Given the description of an element on the screen output the (x, y) to click on. 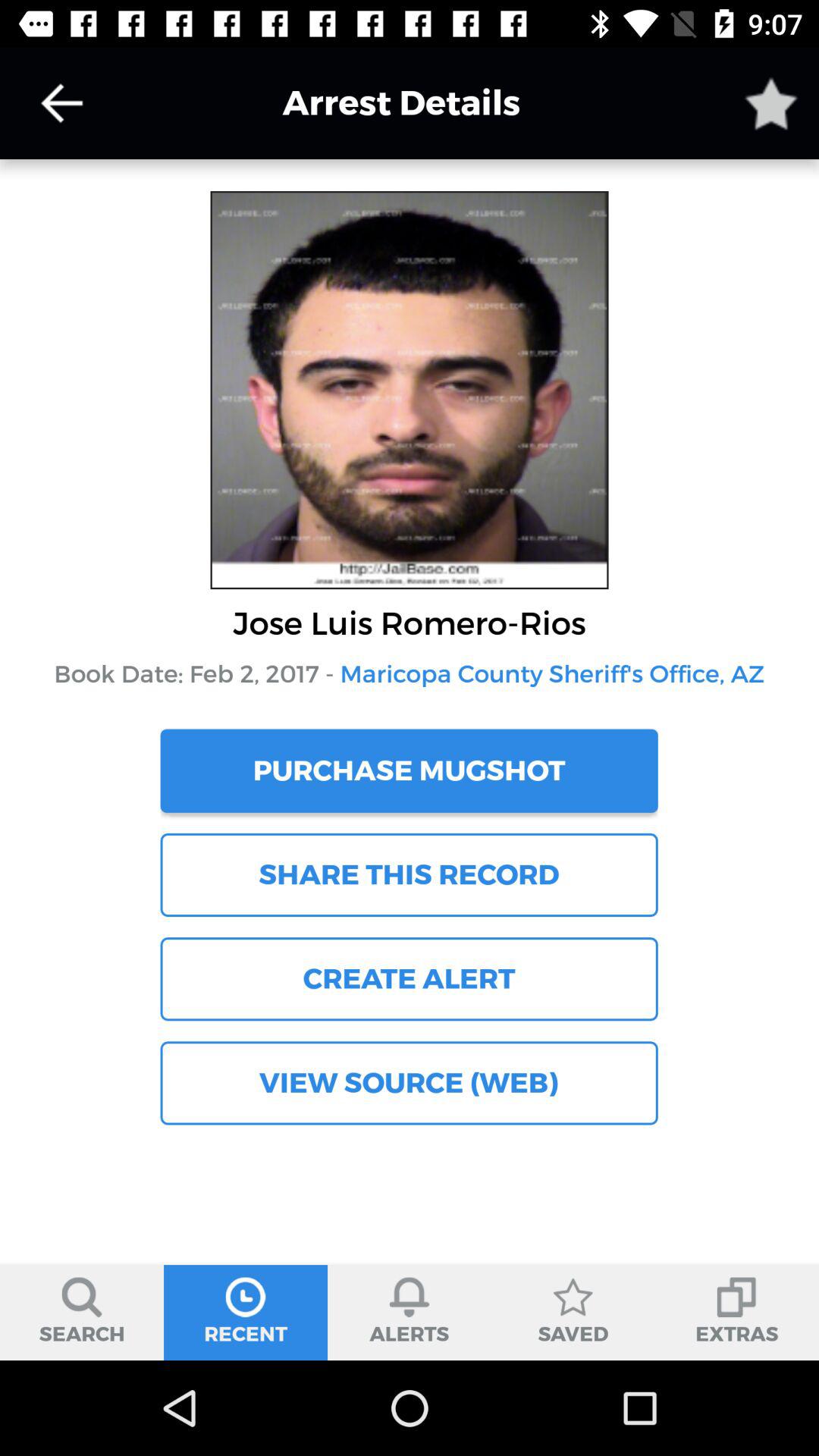
favorite arrest details (771, 103)
